Given the description of an element on the screen output the (x, y) to click on. 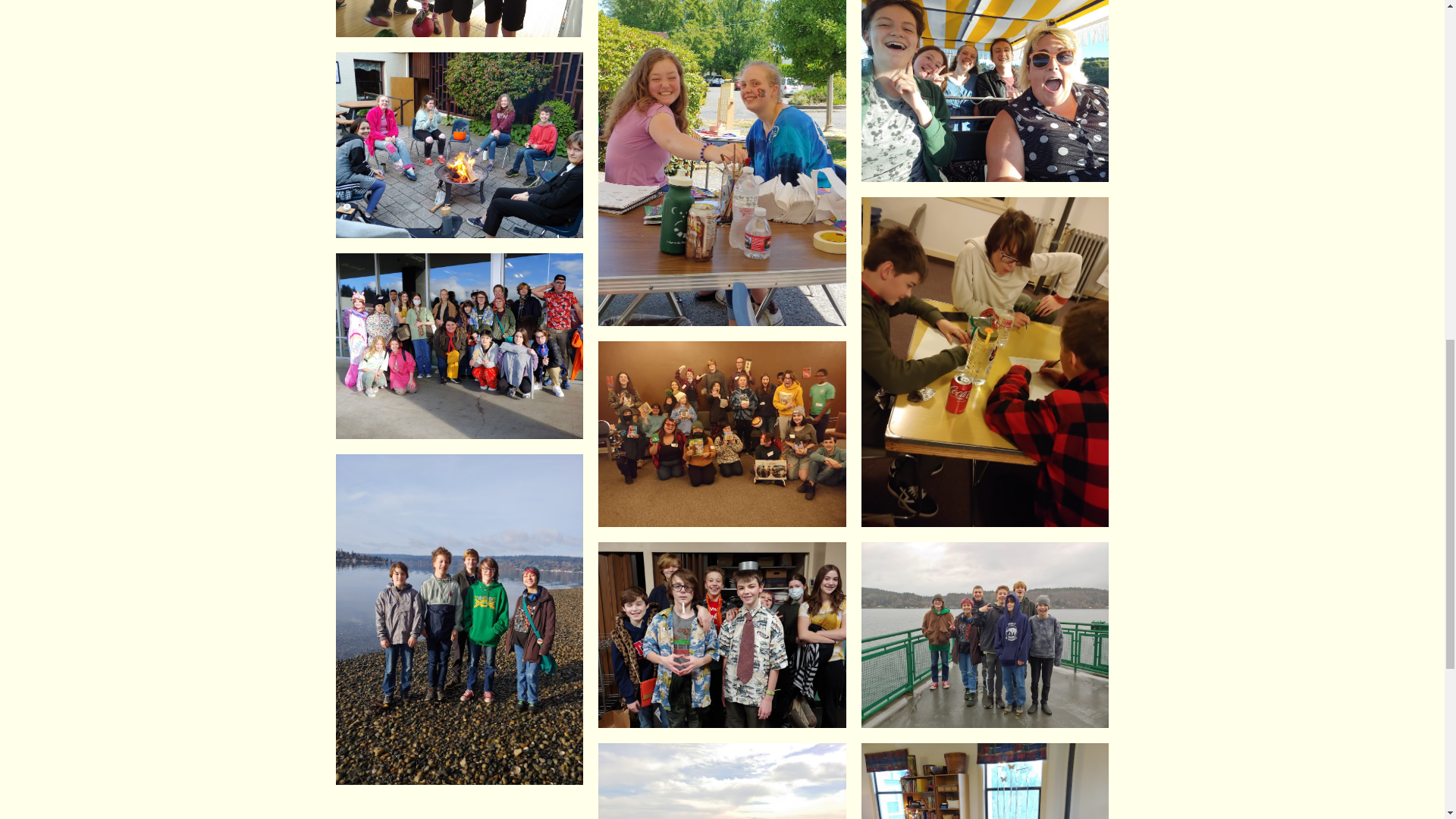
10 (721, 162)
8 (458, 18)
13 (458, 145)
12 (985, 90)
